Given the description of an element on the screen output the (x, y) to click on. 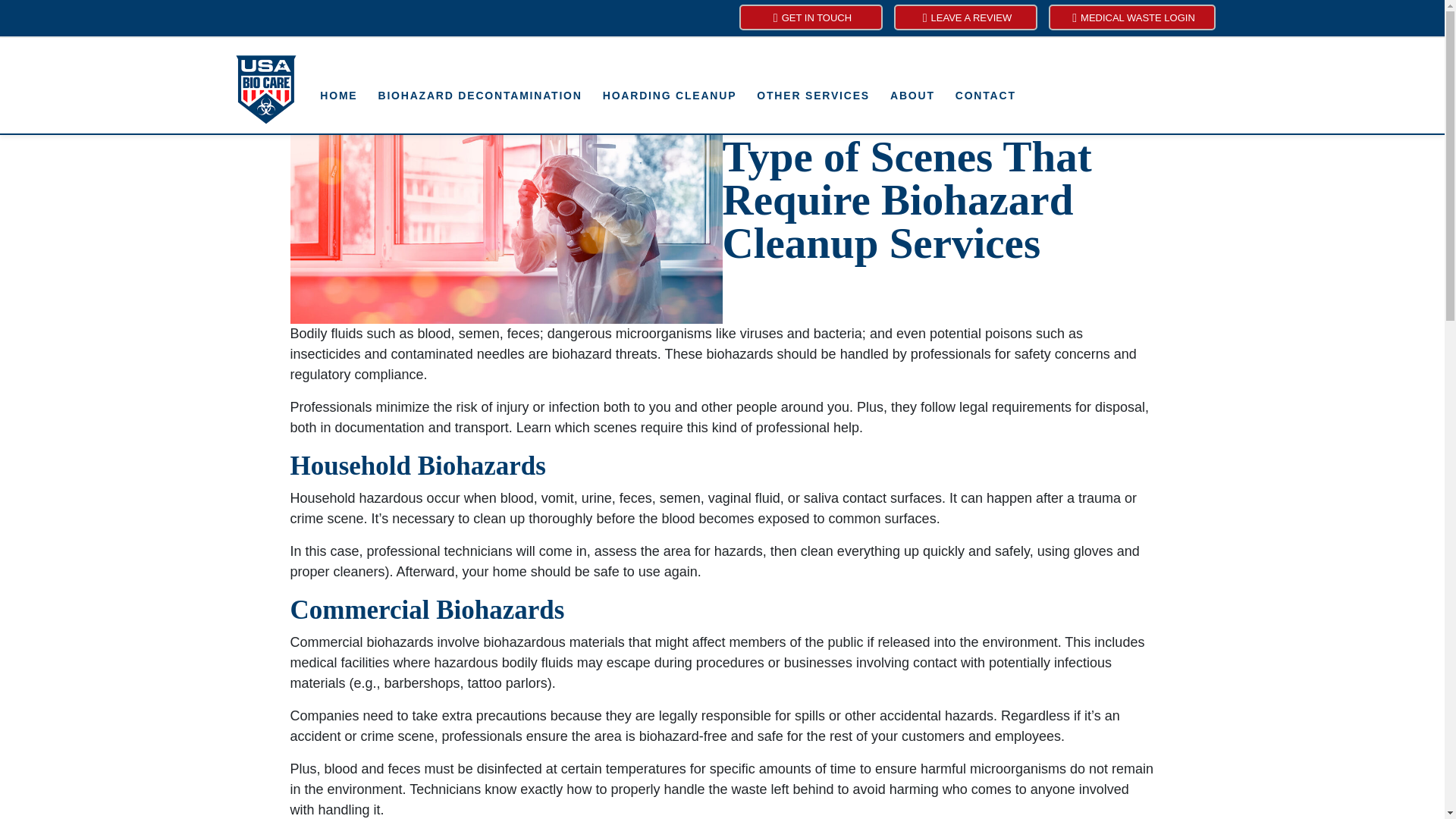
HOME (338, 95)
OTHER SERVICES (812, 95)
HOARDING CLEANUP (669, 95)
LEAVE A REVIEW (964, 17)
GET IN TOUCH (810, 17)
MEDICAL WASTE LOGIN (1131, 17)
BIOHAZARD DECONTAMINATION (479, 95)
